Given the description of an element on the screen output the (x, y) to click on. 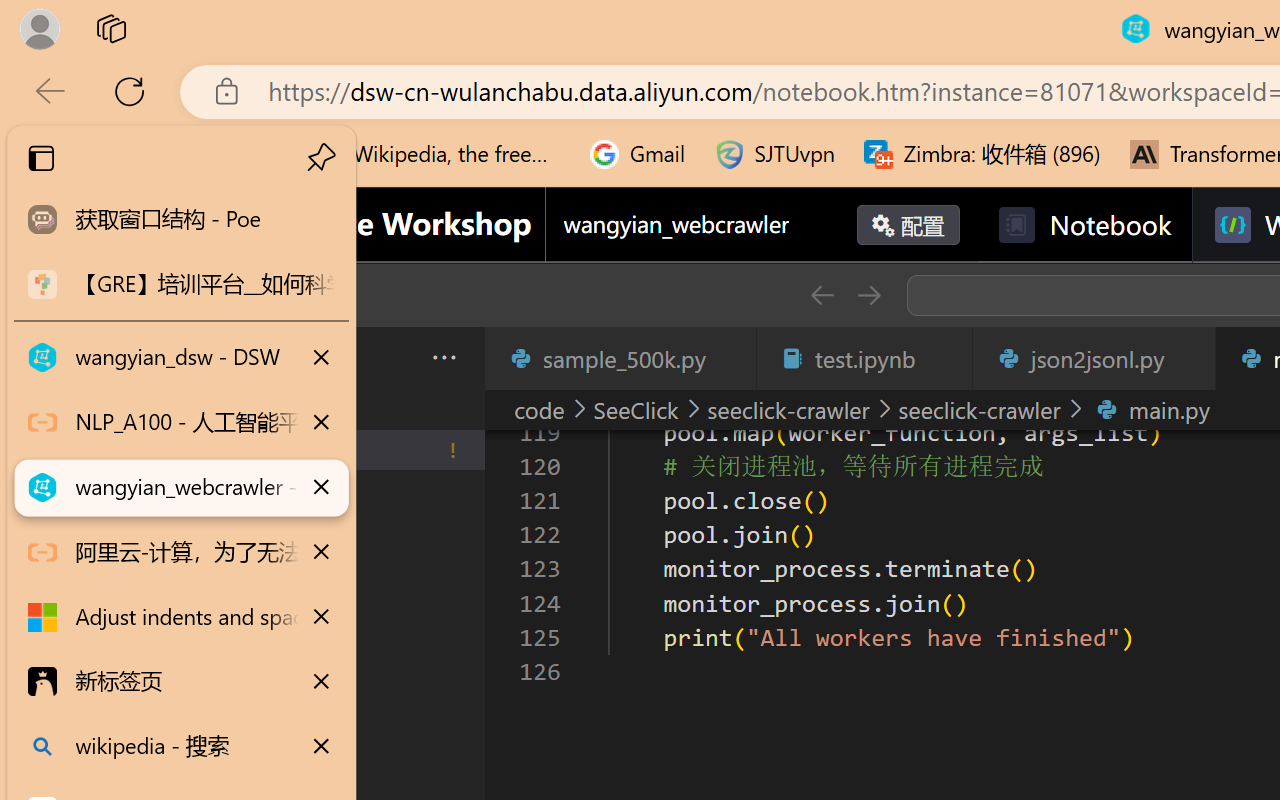
Go Forward (Alt+RightArrow) (867, 295)
Search (Ctrl+Shift+F) (135, 519)
Views and More Actions... (442, 357)
Explorer actions (391, 358)
Class: menubar compact overflow-menu-only (135, 358)
Go Back (Alt+LeftArrow) (821, 295)
Wikipedia, the free encyclopedia (437, 154)
test.ipynb (864, 358)
